Given the description of an element on the screen output the (x, y) to click on. 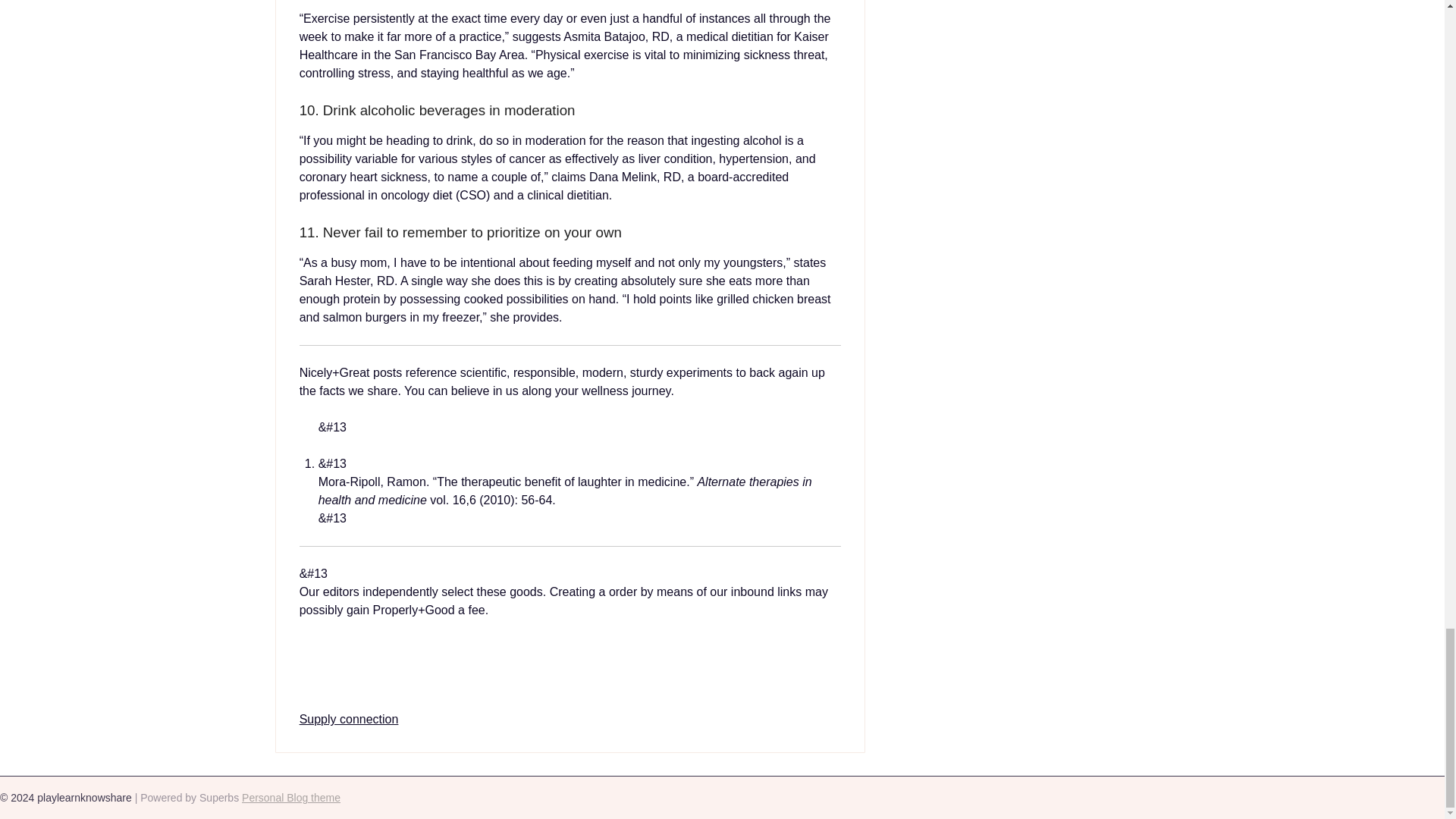
Supply connection (348, 718)
